Given the description of an element on the screen output the (x, y) to click on. 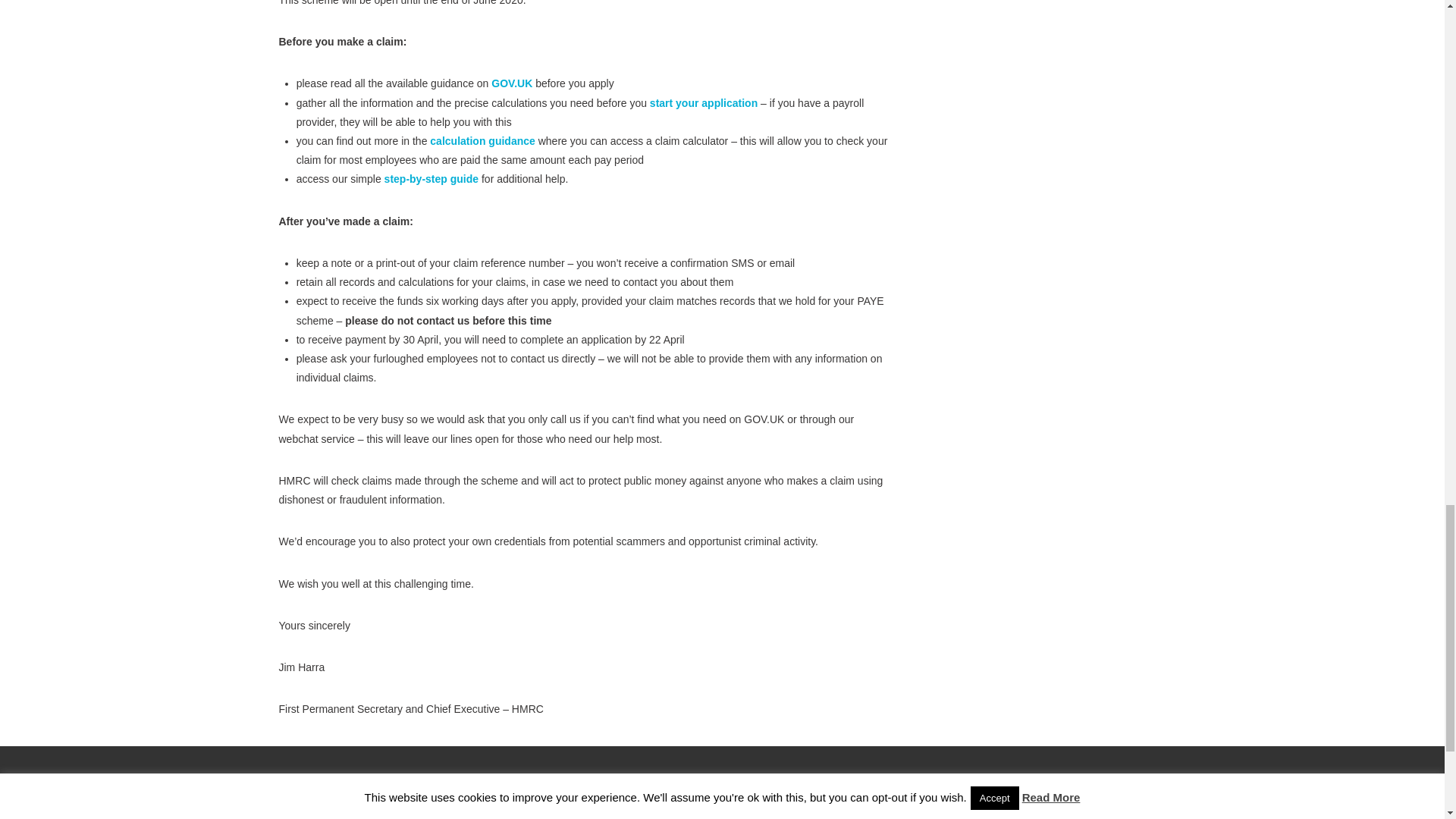
step-by-step guide (431, 178)
GOV.UK (512, 82)
calculation guidance (481, 141)
start your application (703, 102)
